Given the description of an element on the screen output the (x, y) to click on. 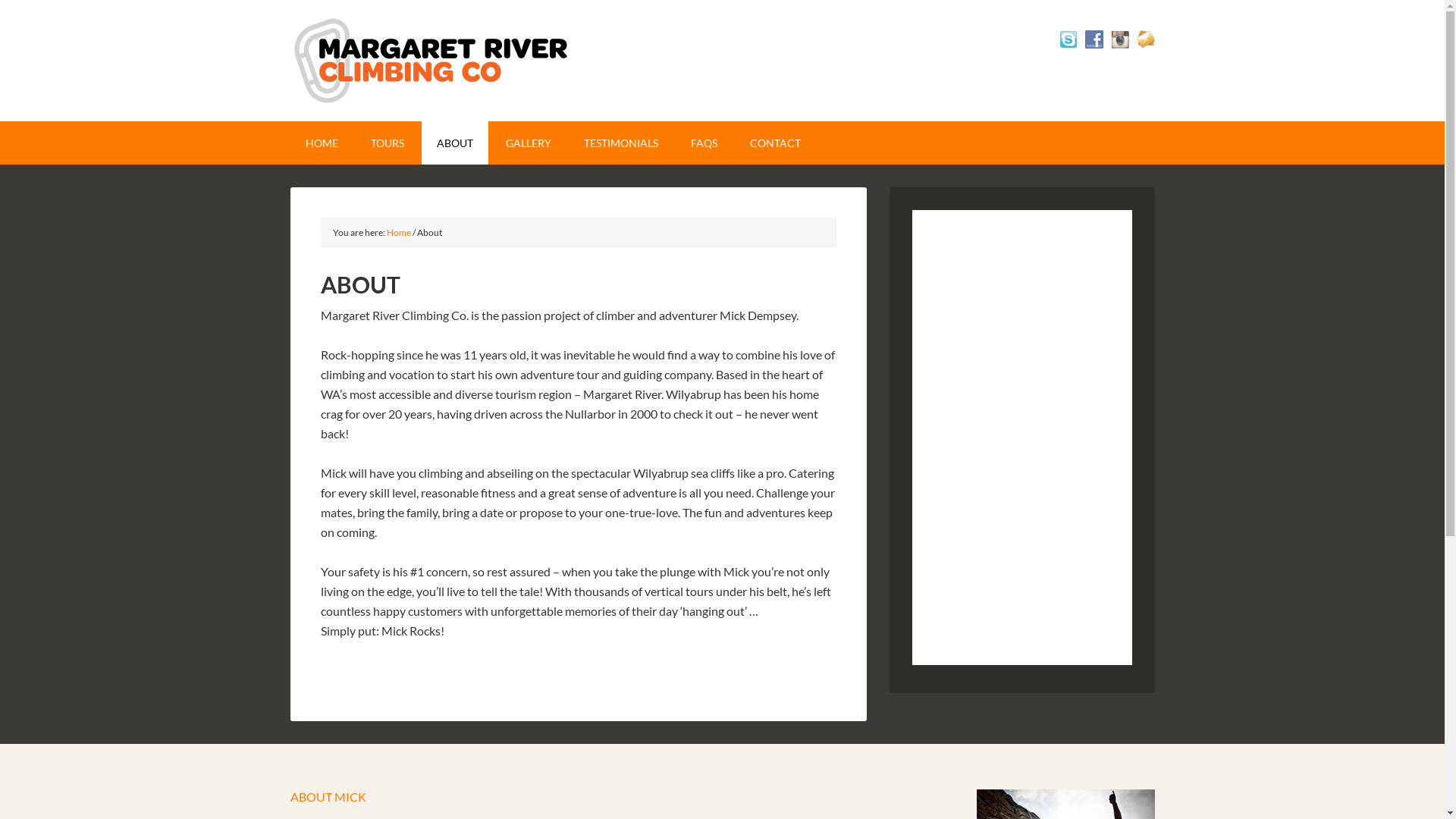
TOURS Element type: text (386, 142)
GALLERY Element type: text (527, 142)
HOME Element type: text (320, 142)
MARGARET RIVER CLIMBING CO. Element type: text (431, 60)
Connect with Margaret River Climbing Co. Facebook Element type: hover (1093, 39)
Home Element type: text (398, 232)
Connect with Margaret River Climbing Co. Skype Element type: hover (1067, 39)
TESTIMONIALS Element type: text (620, 142)
ABOUT Element type: text (454, 142)
Connect with Margaret River Climbing Co. Instagram Element type: hover (1119, 39)
FAQS Element type: text (702, 142)
CONTACT Element type: text (774, 142)
Connect with Margaret River Climbing Co. E-mail Element type: hover (1144, 39)
